Given the description of an element on the screen output the (x, y) to click on. 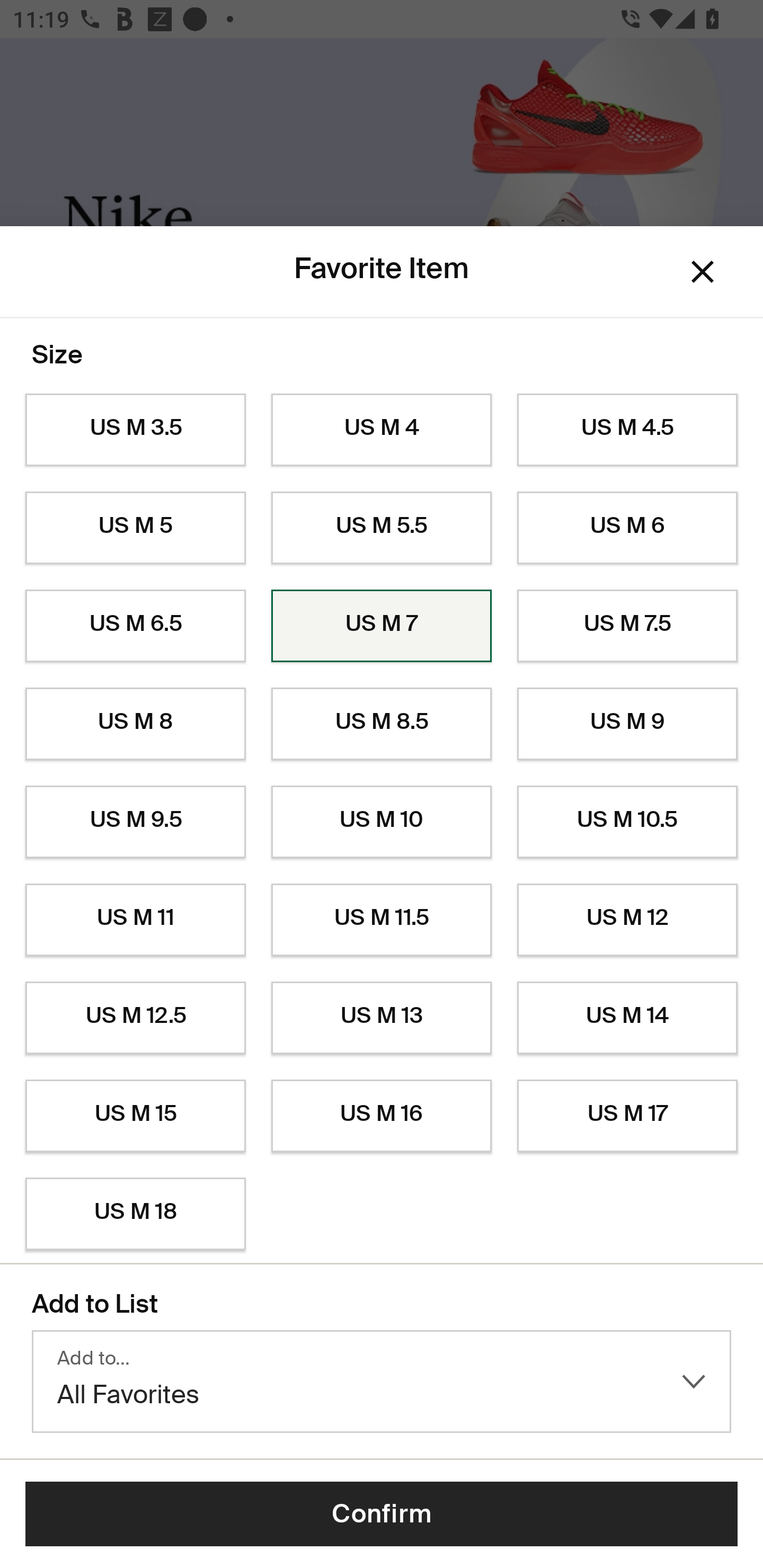
Dismiss (702, 271)
US M 3.5 (135, 430)
US M 4 (381, 430)
US M 4.5 (627, 430)
US M 5 (135, 527)
US M 5.5 (381, 527)
US M 6 (627, 527)
US M 6.5 (135, 626)
US M 7 (381, 626)
US M 7.5 (627, 626)
US M 8 (135, 724)
US M 8.5 (381, 724)
US M 9 (627, 724)
US M 9.5 (135, 822)
US M 10 (381, 822)
US M 10.5 (627, 822)
US M 11 (135, 919)
US M 11.5 (381, 919)
US M 12 (627, 919)
US M 12.5 (135, 1018)
US M 13 (381, 1018)
US M 14 (627, 1018)
US M 15 (135, 1116)
US M 16 (381, 1116)
US M 17 (627, 1116)
US M 18 (135, 1214)
Add to… All Favorites (381, 1381)
Confirm (381, 1513)
